Given the description of an element on the screen output the (x, y) to click on. 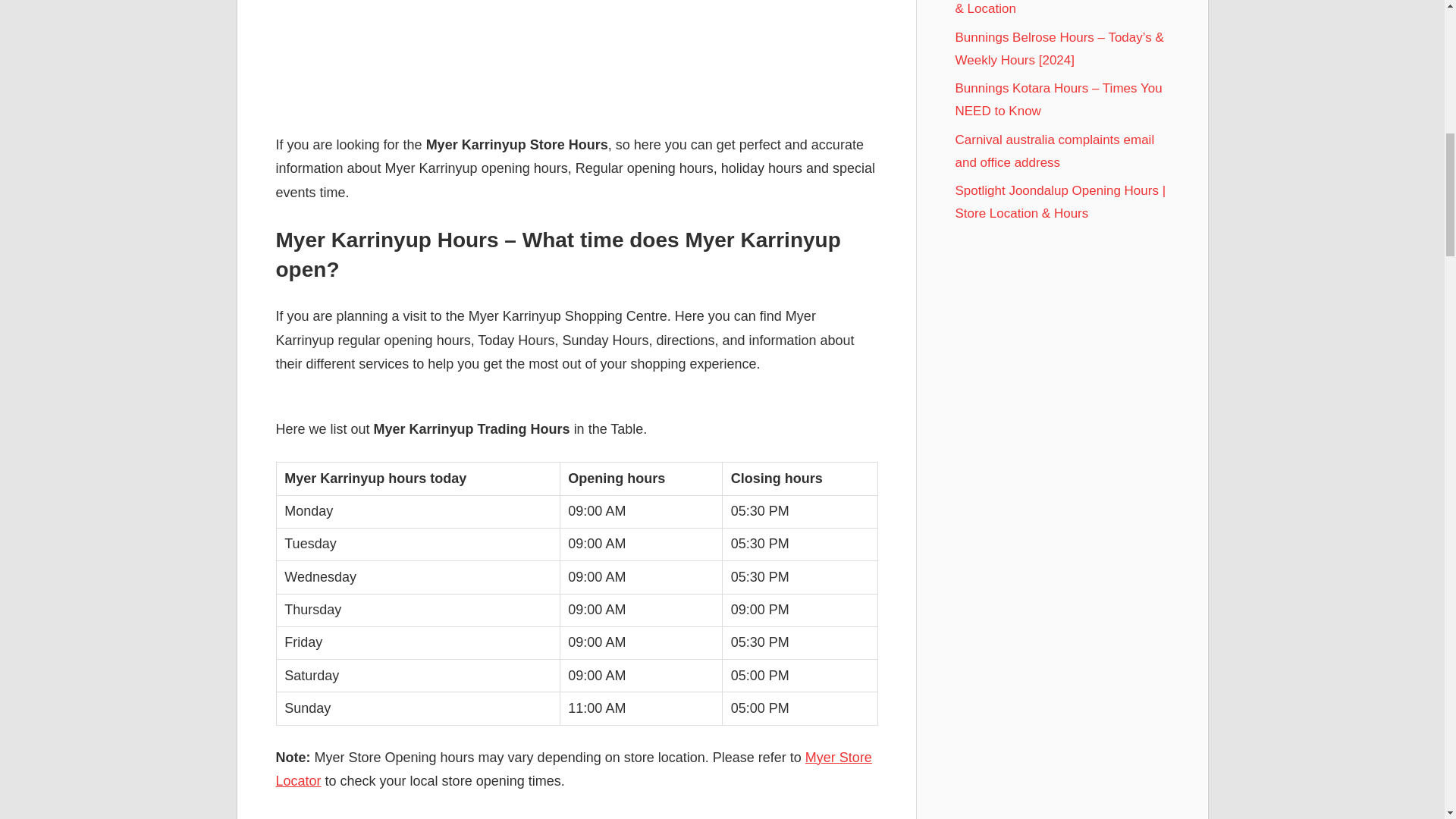
Advertisement (576, 56)
Carnival australia complaints email and office address (1054, 150)
Myer Store Locator (574, 769)
